Given the description of an element on the screen output the (x, y) to click on. 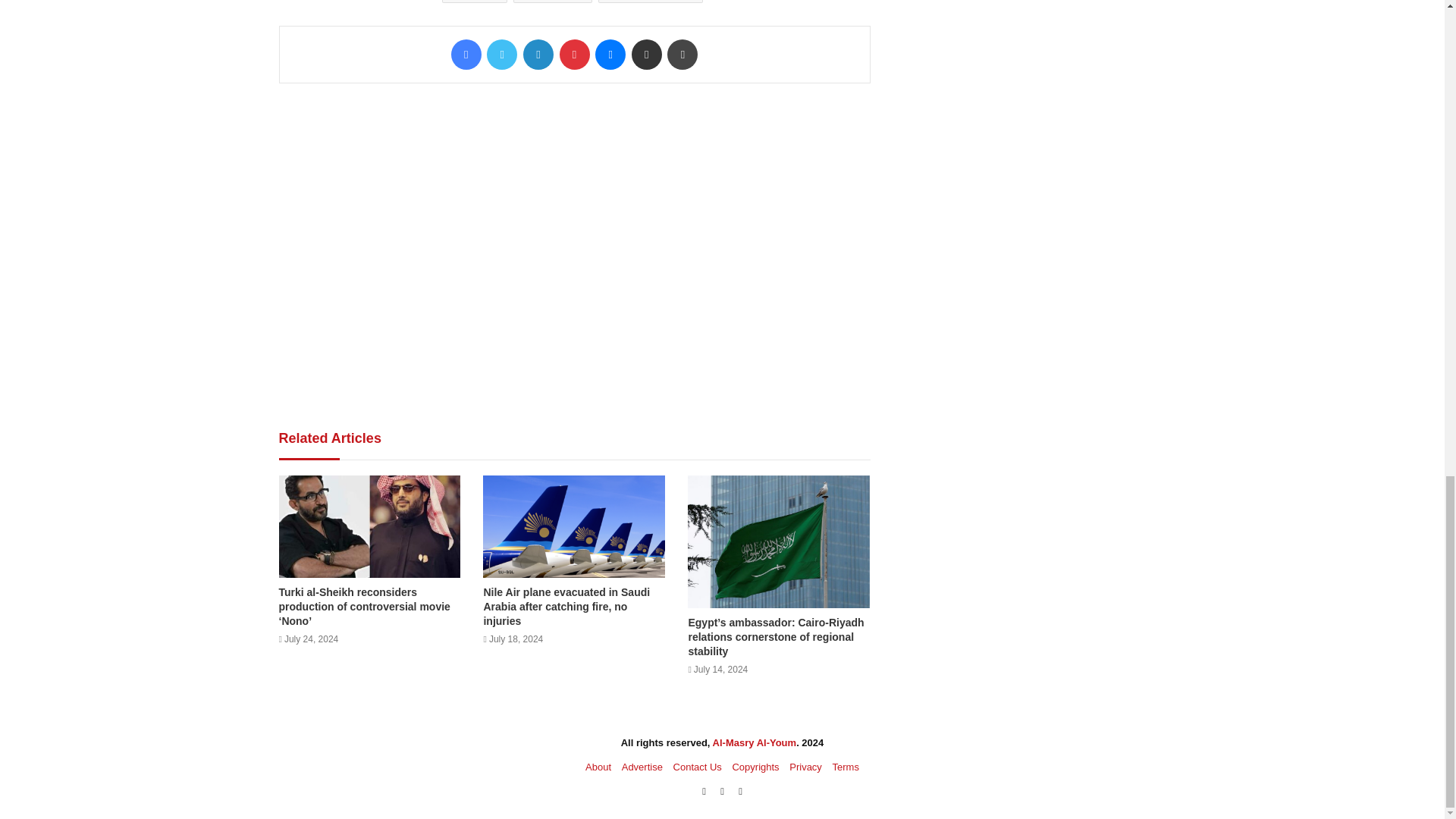
Messenger (610, 54)
Facebook (466, 54)
Facebook (466, 54)
LinkedIn (537, 54)
Twitter (501, 54)
Messenger (610, 54)
Pinterest (574, 54)
Twitter (501, 54)
Saudi Arabia (650, 1)
LinkedIn (537, 54)
Print (681, 54)
Pinterest (574, 54)
Share via Email (646, 54)
Share via Email (646, 54)
Pilgrims (552, 1)
